Given the description of an element on the screen output the (x, y) to click on. 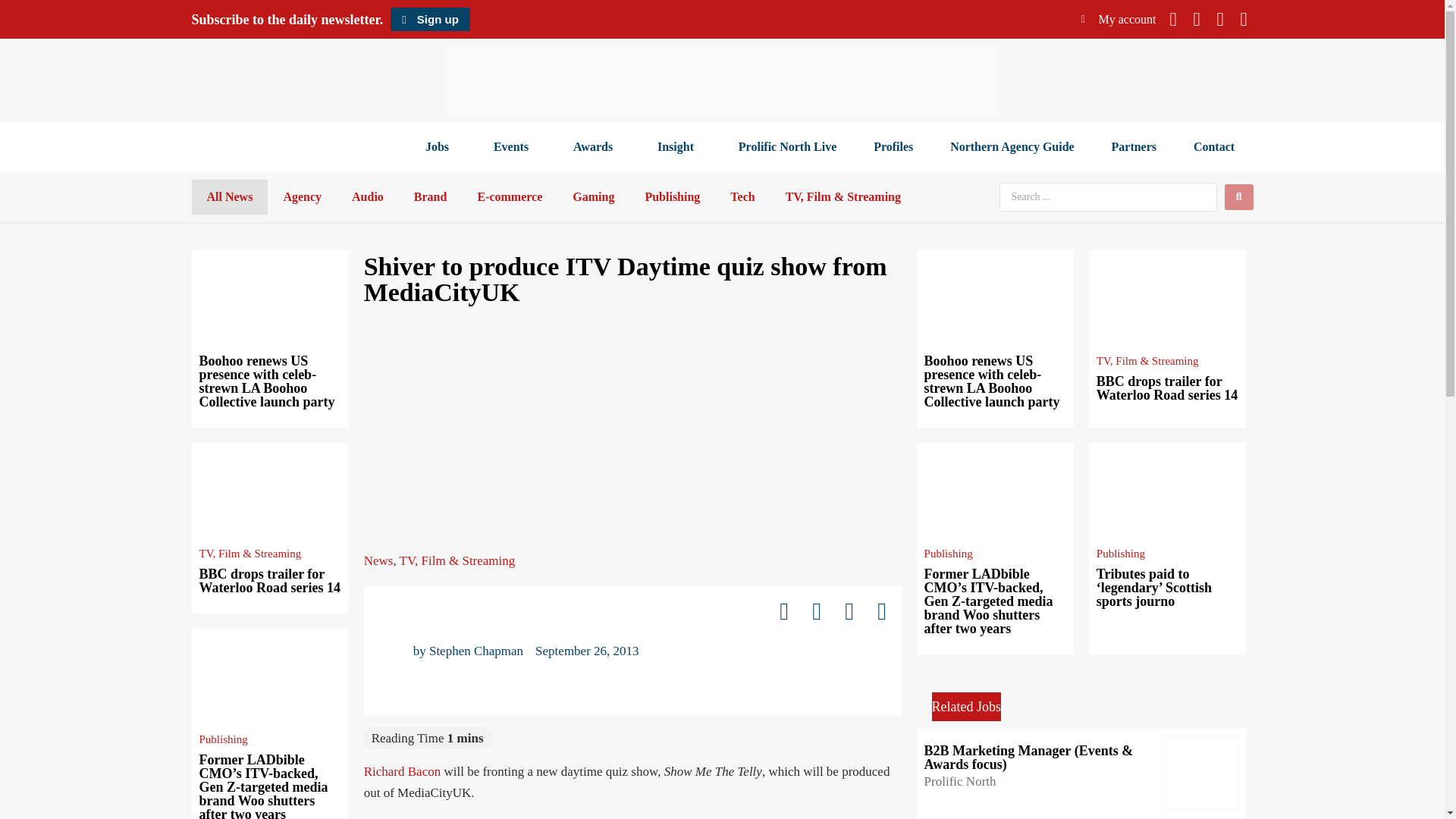
Jobs (440, 146)
My account (1118, 19)
Awards (596, 146)
Events (514, 146)
Sign up (429, 19)
